Given the description of an element on the screen output the (x, y) to click on. 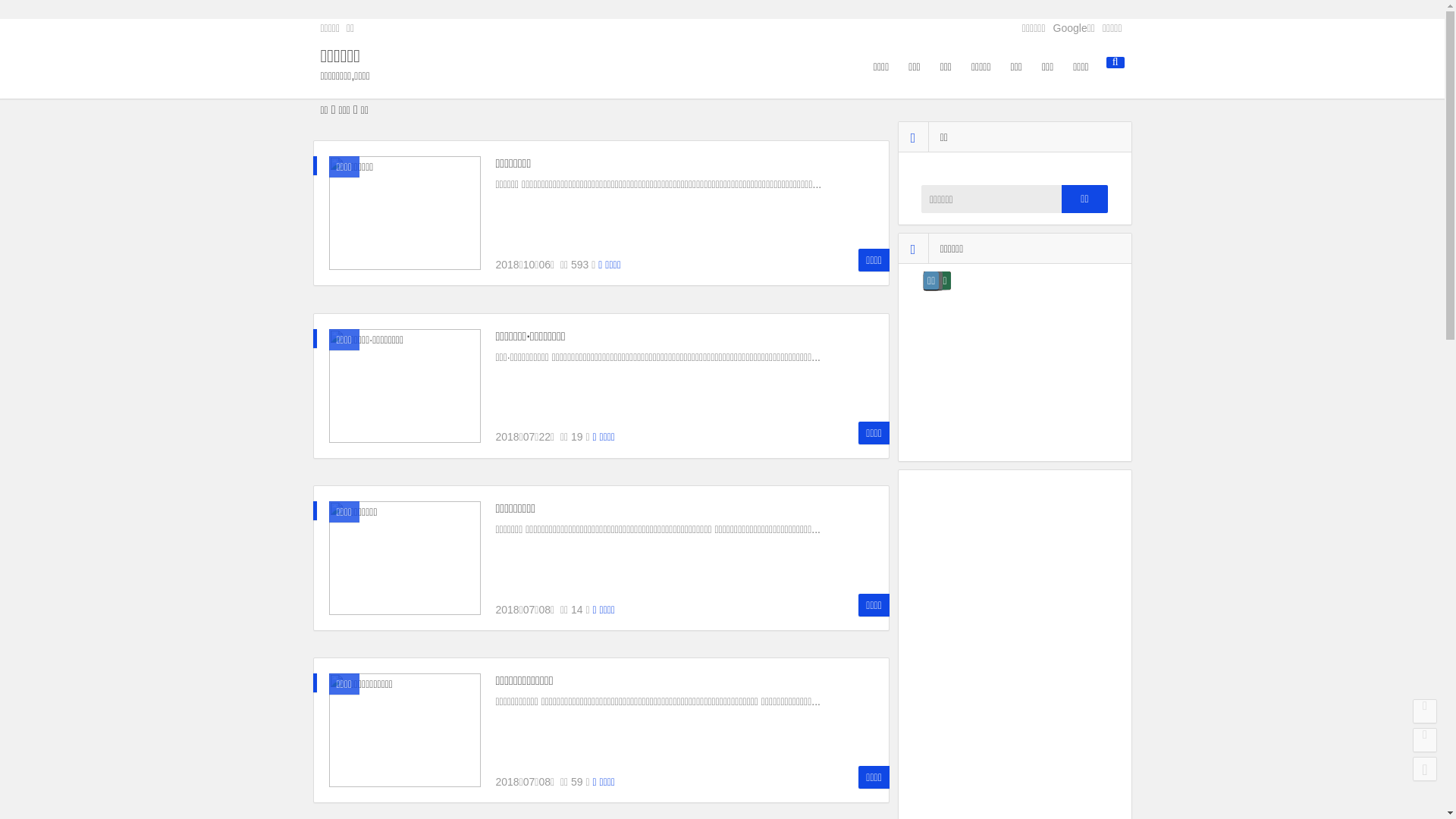
Advertisement Element type: hover (1025, 578)
